Given the description of an element on the screen output the (x, y) to click on. 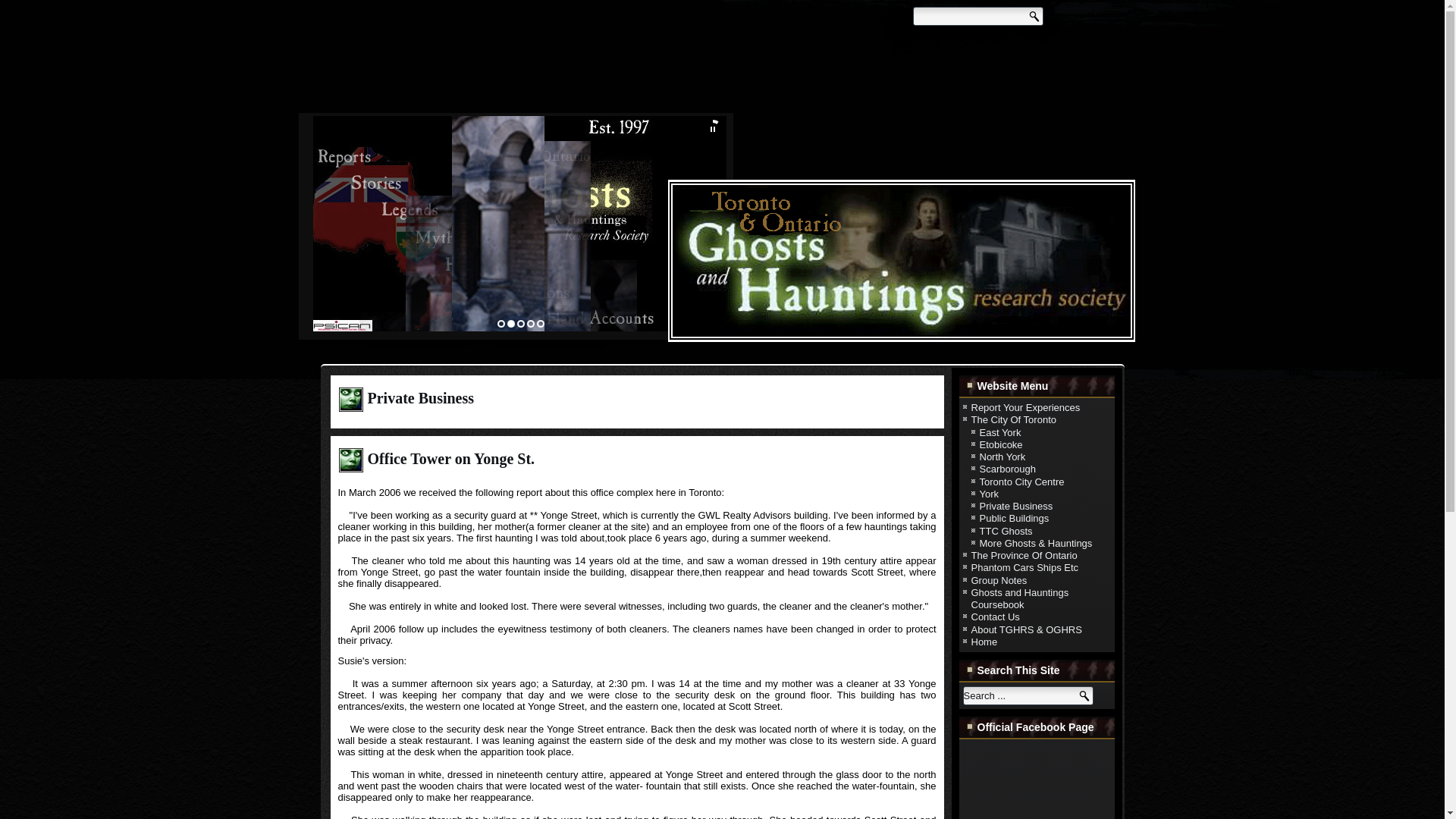
Group Notes (998, 580)
Home (984, 641)
York (988, 493)
Scarborough (1007, 469)
Report Your Experiences (1025, 407)
TTC Ghosts (1005, 530)
Contact Us (995, 616)
North York (1002, 456)
Private Business (1015, 505)
East York (1000, 431)
Phantom Cars Ships Etc (1024, 567)
The City Of Toronto (1013, 419)
Search ... (1027, 695)
Ghosts and Hauntings Coursebook (1019, 598)
Etobicoke (1001, 444)
